Given the description of an element on the screen output the (x, y) to click on. 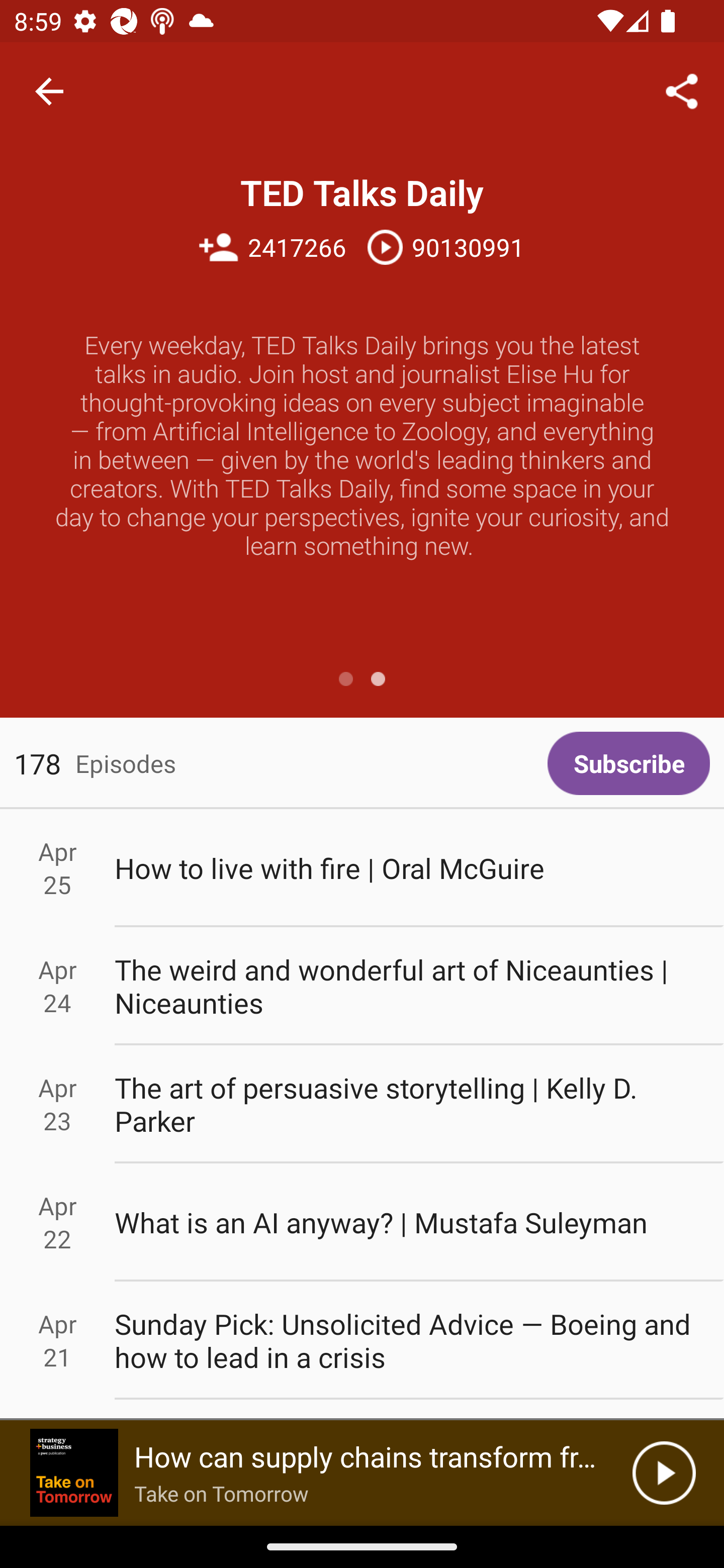
Navigate up (49, 91)
Share... (681, 90)
Subscribe (628, 763)
Apr 25 How to live with fire | Oral McGuire (362, 867)
Apr 22 What is an AI anyway? | Mustafa Suleyman (362, 1222)
Play (663, 1472)
